Given the description of an element on the screen output the (x, y) to click on. 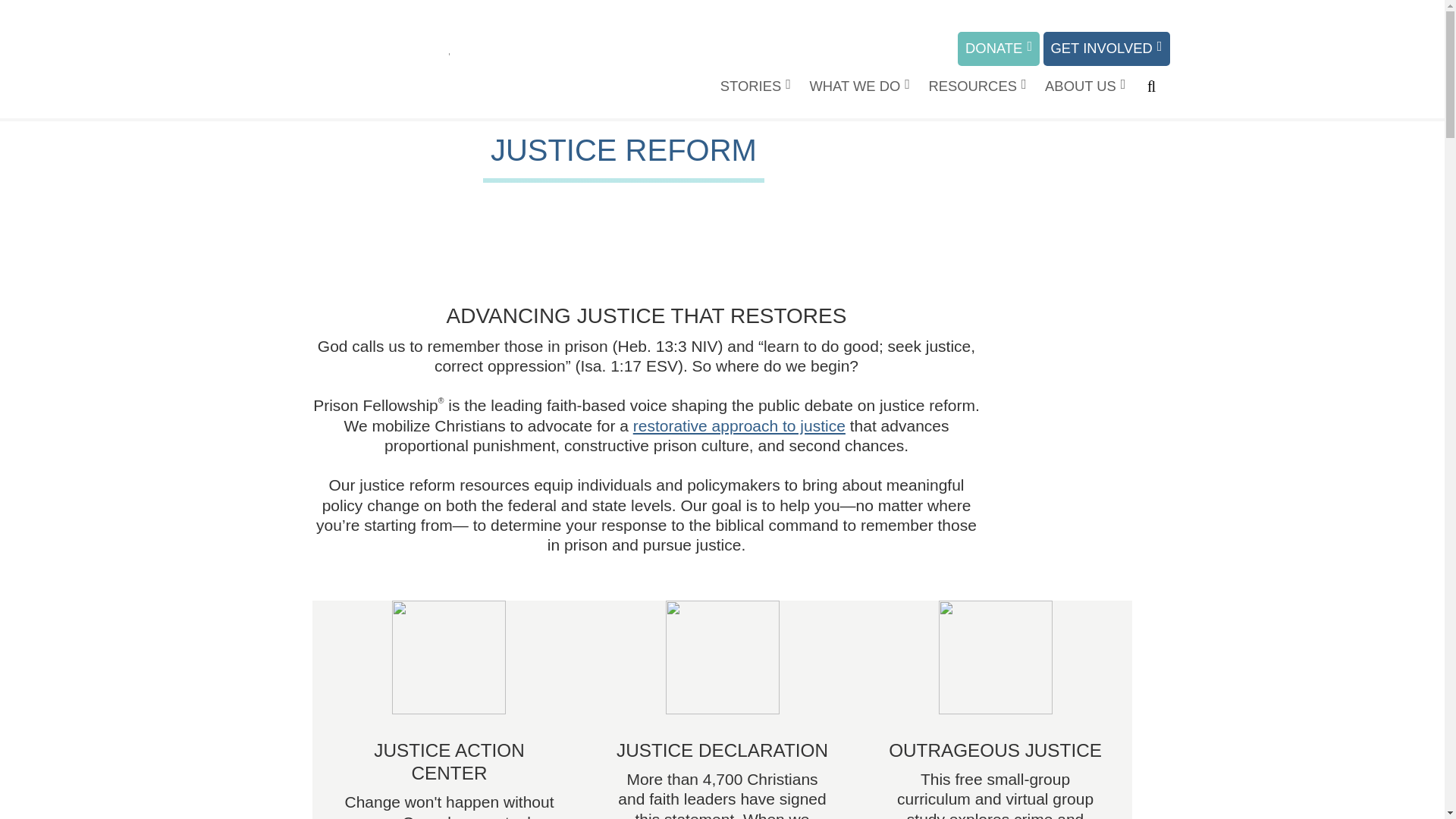
Prison Fellowship (357, 62)
Story Parent (755, 86)
DONATE (998, 48)
STORIES (755, 86)
GET INVOLVED (1106, 48)
WHAT WE DO (859, 86)
